Given the description of an element on the screen output the (x, y) to click on. 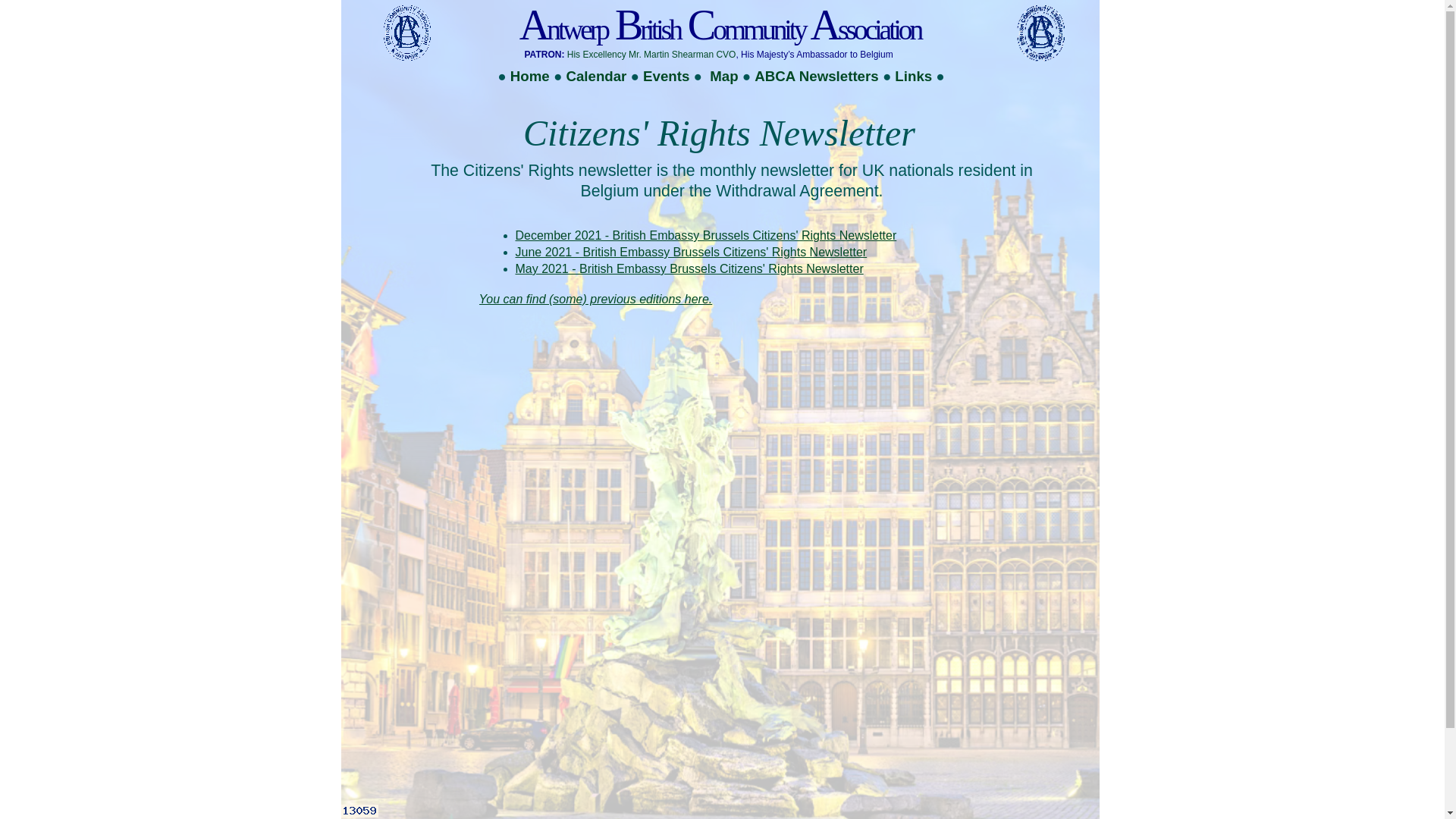
Calendar Element type: text (595, 76)
Events Element type: text (666, 76)
Links Element type: text (912, 76)
You can find (some) previous editions here. Element type: text (595, 298)
ABCA Newsletters Element type: text (818, 76)
Advertisement Element type: hover (806, 97)
Home Element type: text (529, 76)
Map Element type: text (723, 76)
His Excellency Mr. Martin Shearman CVO Element type: text (651, 54)
